Given the description of an element on the screen output the (x, y) to click on. 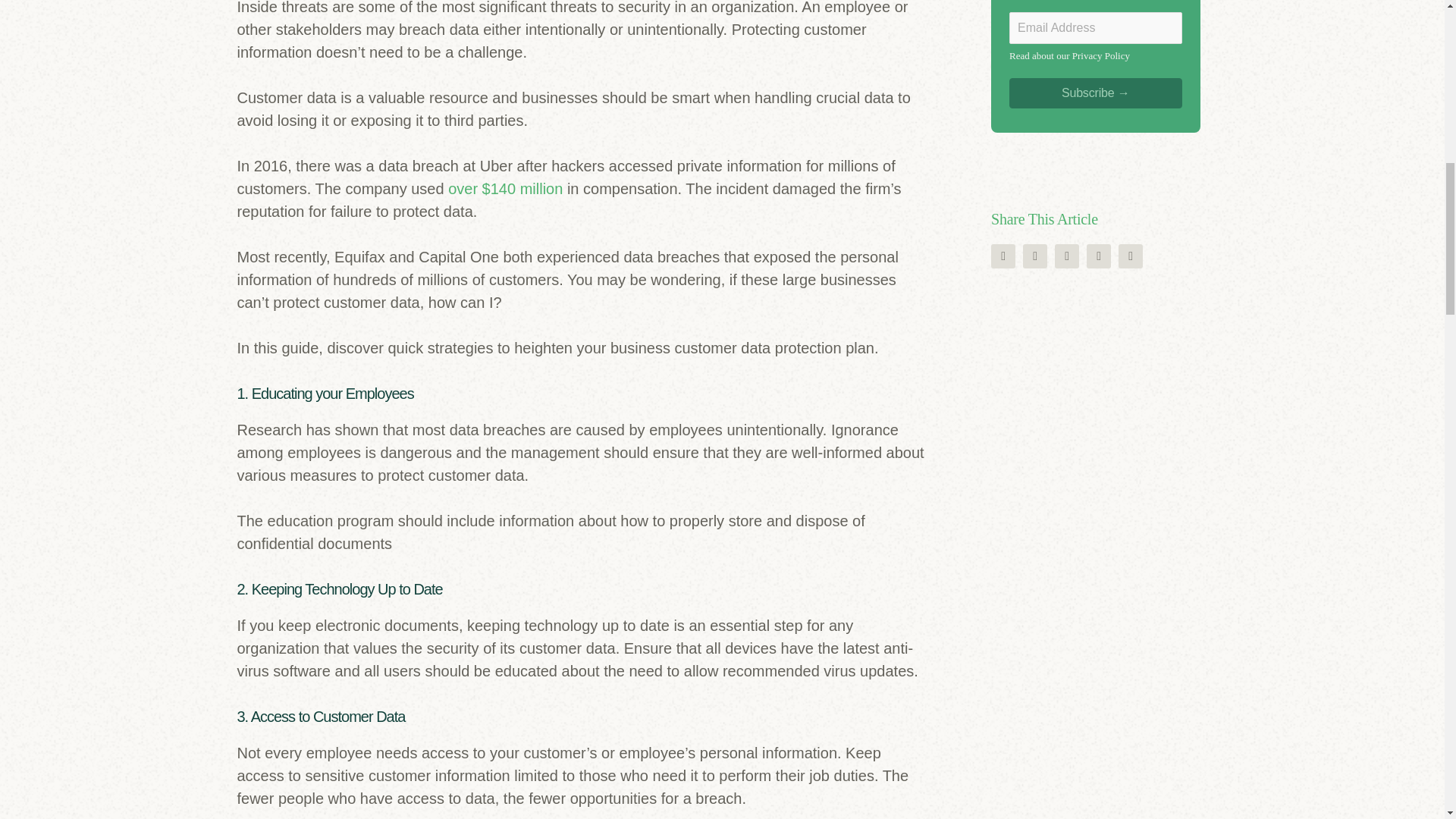
5 Essential Strategies to Heighten Customer Data Protection (1098, 256)
5 Essential Strategies to Heighten Customer Data Protection (1130, 256)
5 Essential Strategies to Heighten Customer Data Protection (1034, 256)
5 Essential Strategies to Heighten Customer Data Protection (1002, 256)
5 Essential Strategies to Heighten Customer Data Protection (1066, 256)
